Given the description of an element on the screen output the (x, y) to click on. 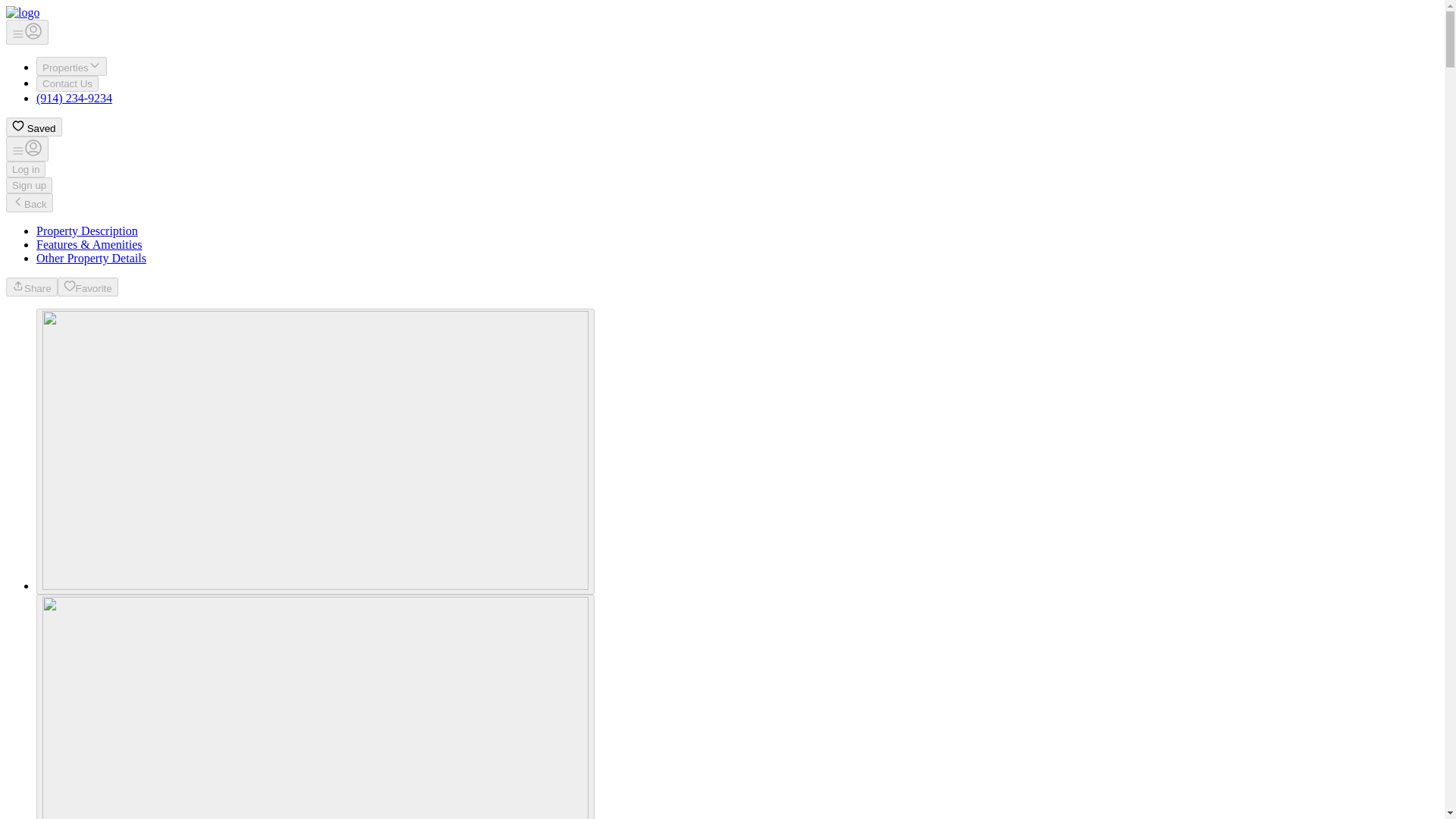
Other Property Details (91, 257)
Share (31, 286)
Go to: Homepage (22, 11)
Contact Us (67, 83)
Property Description (26, 32)
Properties (87, 230)
Back (71, 66)
Favorite (28, 202)
Sign up (87, 286)
Saved (28, 185)
Log in (33, 126)
